Given the description of an element on the screen output the (x, y) to click on. 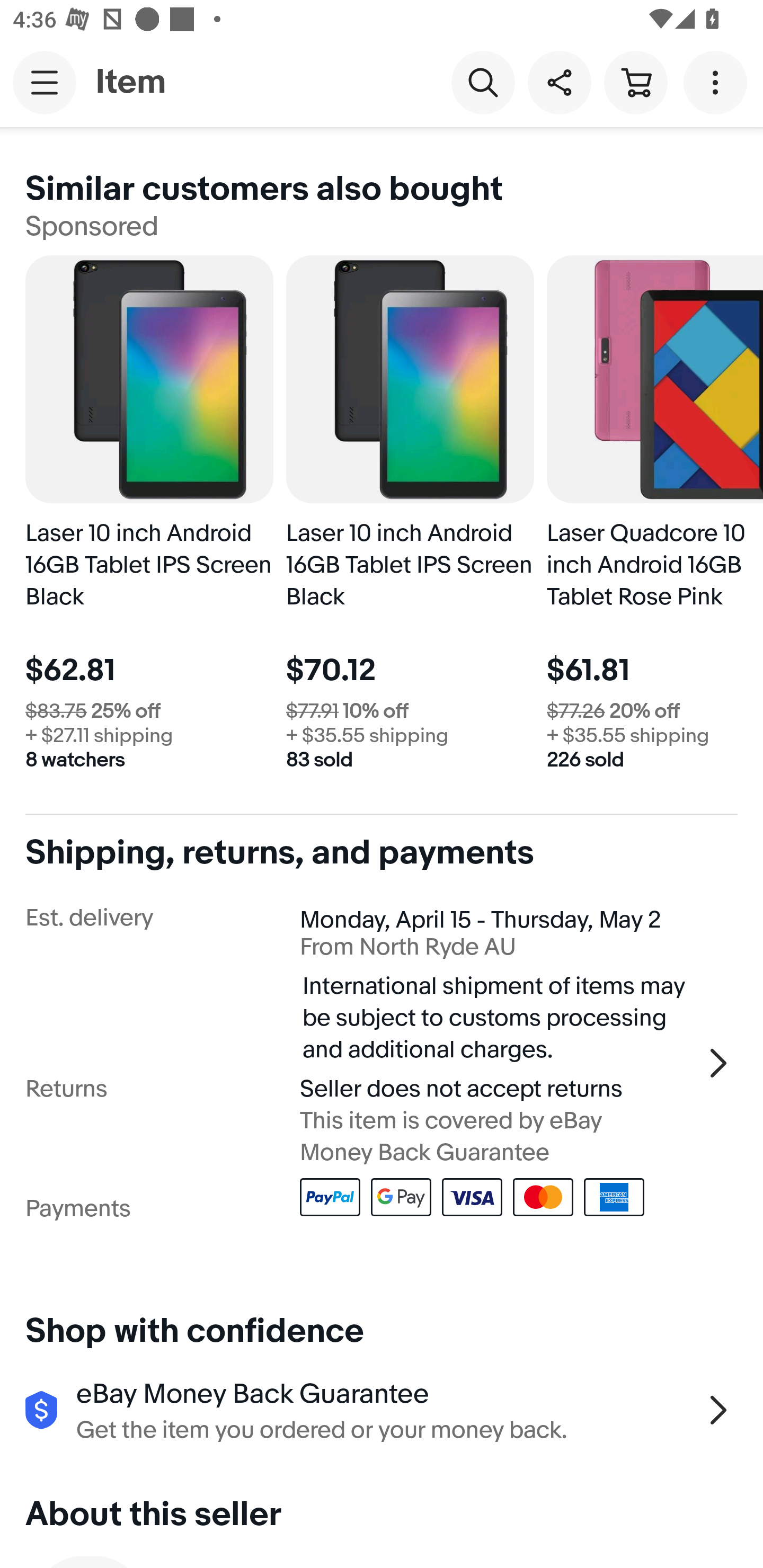
Main navigation, open (44, 82)
Search (482, 81)
Share this item (559, 81)
Cart button shopping cart (635, 81)
More options (718, 81)
